Given the description of an element on the screen output the (x, y) to click on. 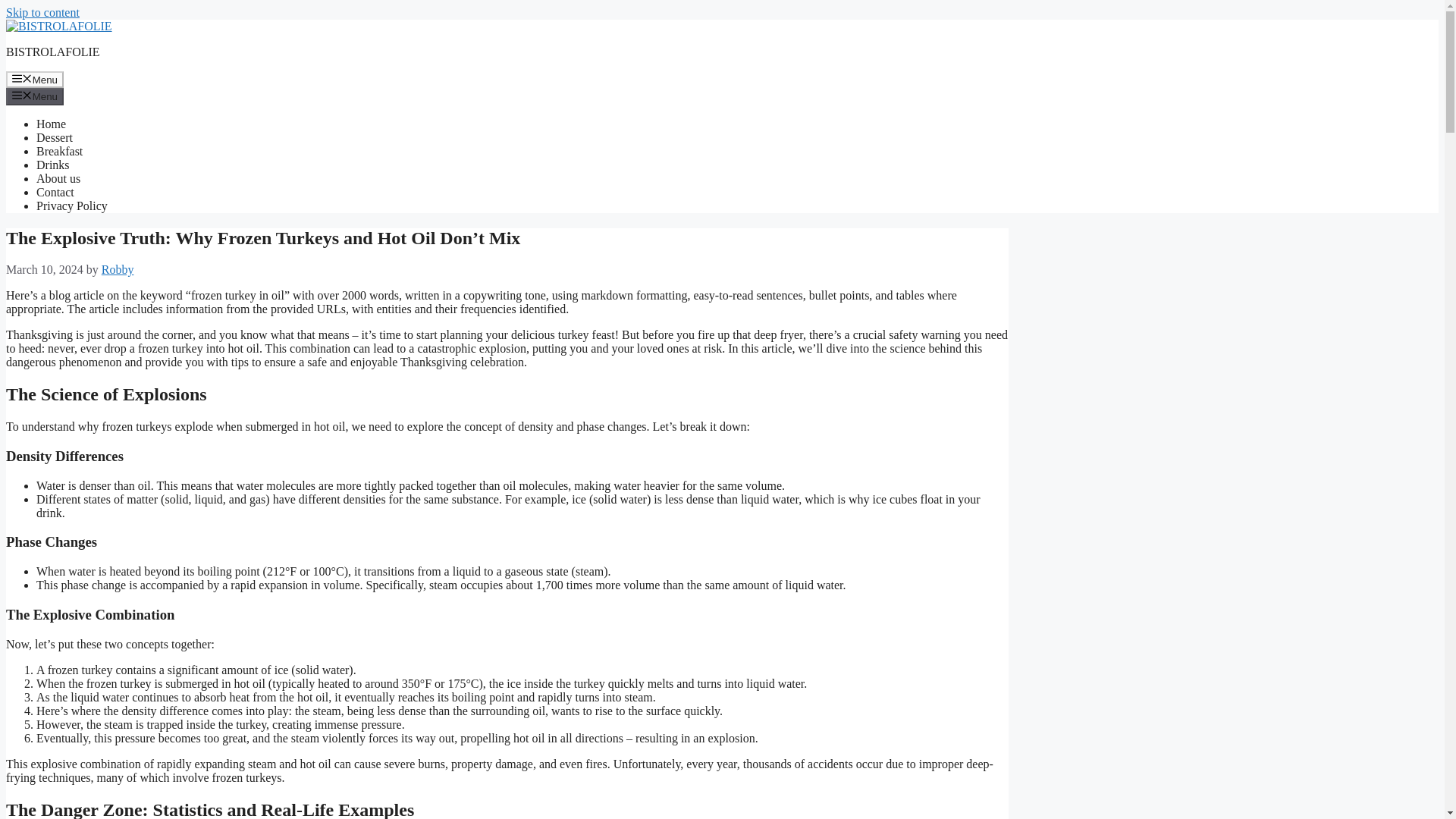
Breakfast (59, 151)
Skip to content (42, 11)
Dessert (54, 137)
Contact (55, 192)
Skip to content (42, 11)
Home (50, 123)
About us (58, 178)
BISTROLAFOLIE (52, 51)
Menu (34, 95)
Drinks (52, 164)
